Given the description of an element on the screen output the (x, y) to click on. 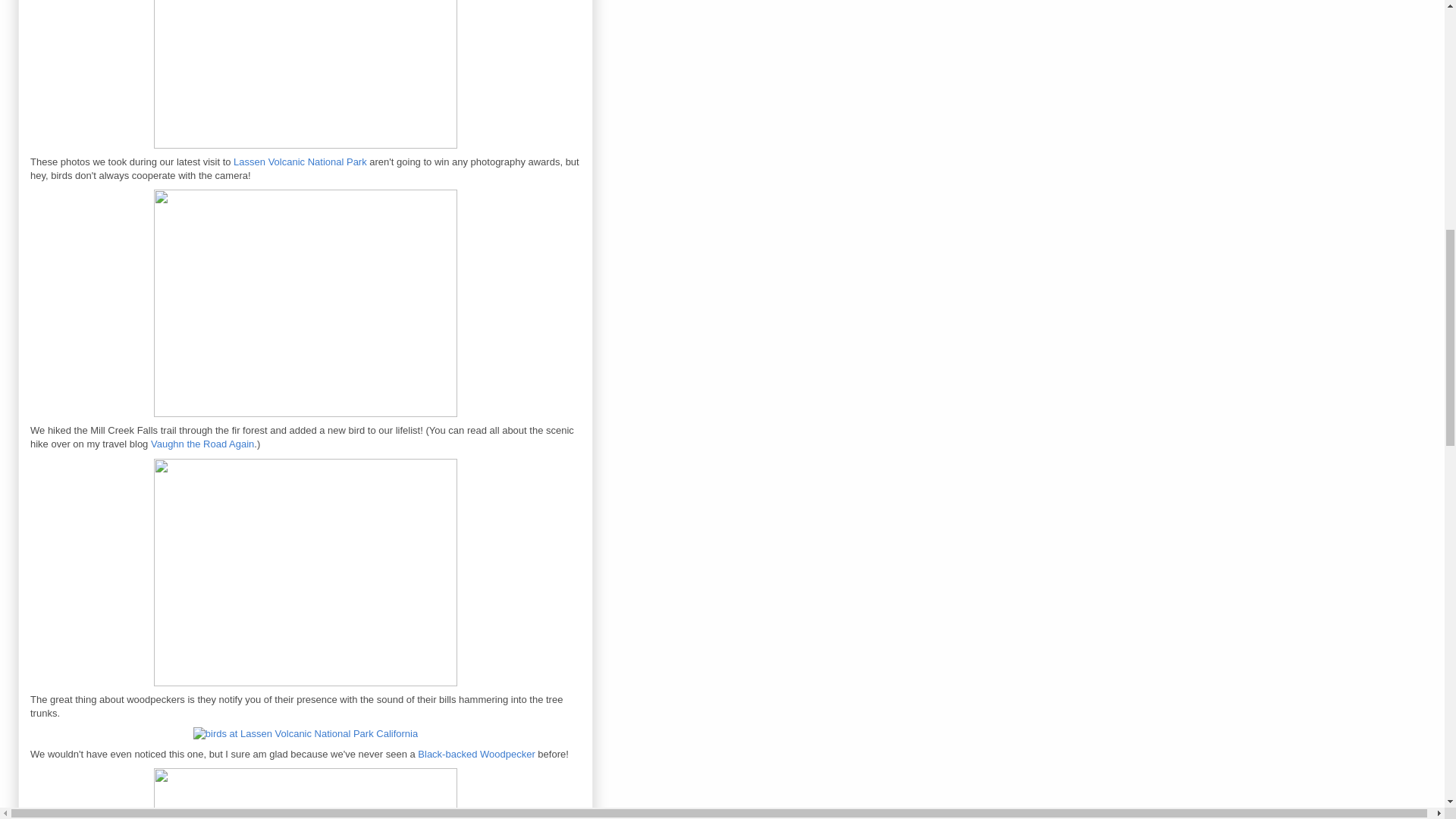
Black-backed Woodpecker (475, 754)
birds at Lassen Volcanic National Park California (305, 790)
Vaughn the Road Again (202, 443)
birds at Lassen Volcanic National Park California (305, 572)
Lassen Volcanic National Park (299, 161)
Black-backed Woodpecker (305, 733)
